Given the description of an element on the screen output the (x, y) to click on. 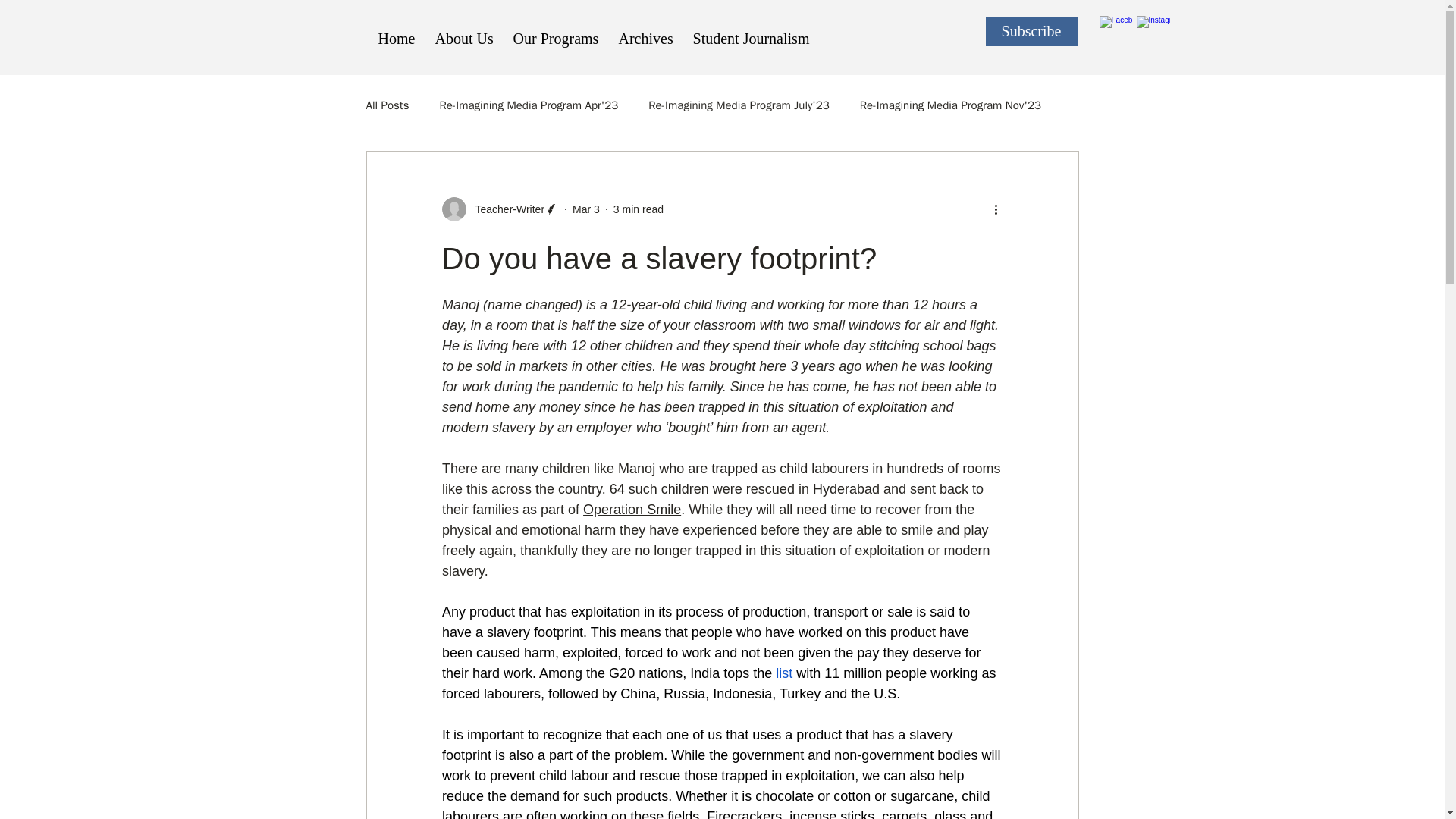
Mar 3 (585, 209)
About Us (463, 31)
Operation Smile (632, 509)
Student Journalism (750, 31)
Re-Imagining Media Program Nov'23 (950, 105)
Teacher-Writer (504, 209)
Re-Imagining Media Program Apr'23 (528, 105)
Subscribe (1031, 30)
Re-Imagining Media Program July'23 (738, 105)
Archives (645, 31)
